Given the description of an element on the screen output the (x, y) to click on. 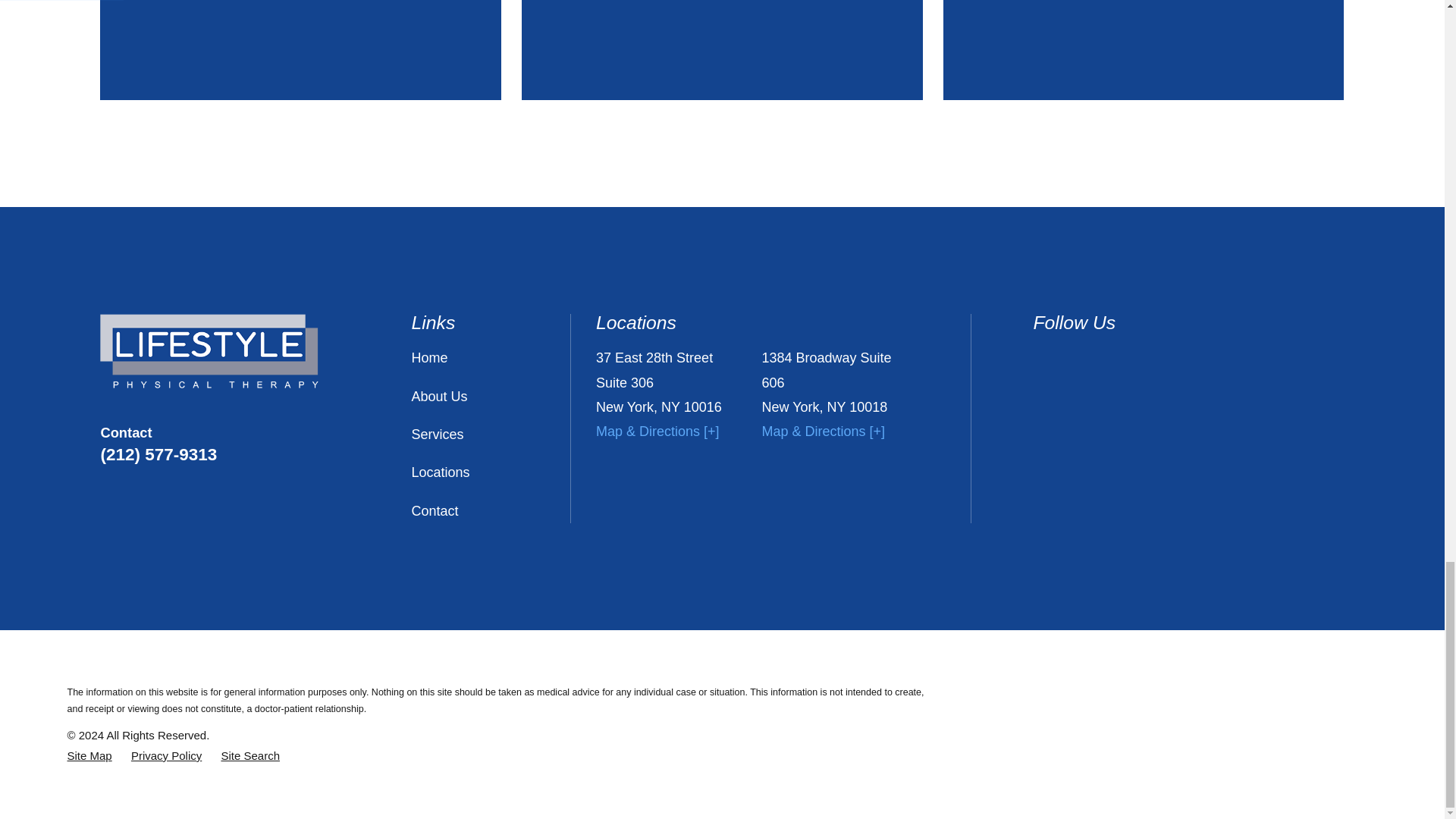
Instagram (1121, 354)
LinkedIn (1041, 354)
Google Business Profile (1160, 354)
Home (209, 351)
Facebook (1082, 354)
